Given the description of an element on the screen output the (x, y) to click on. 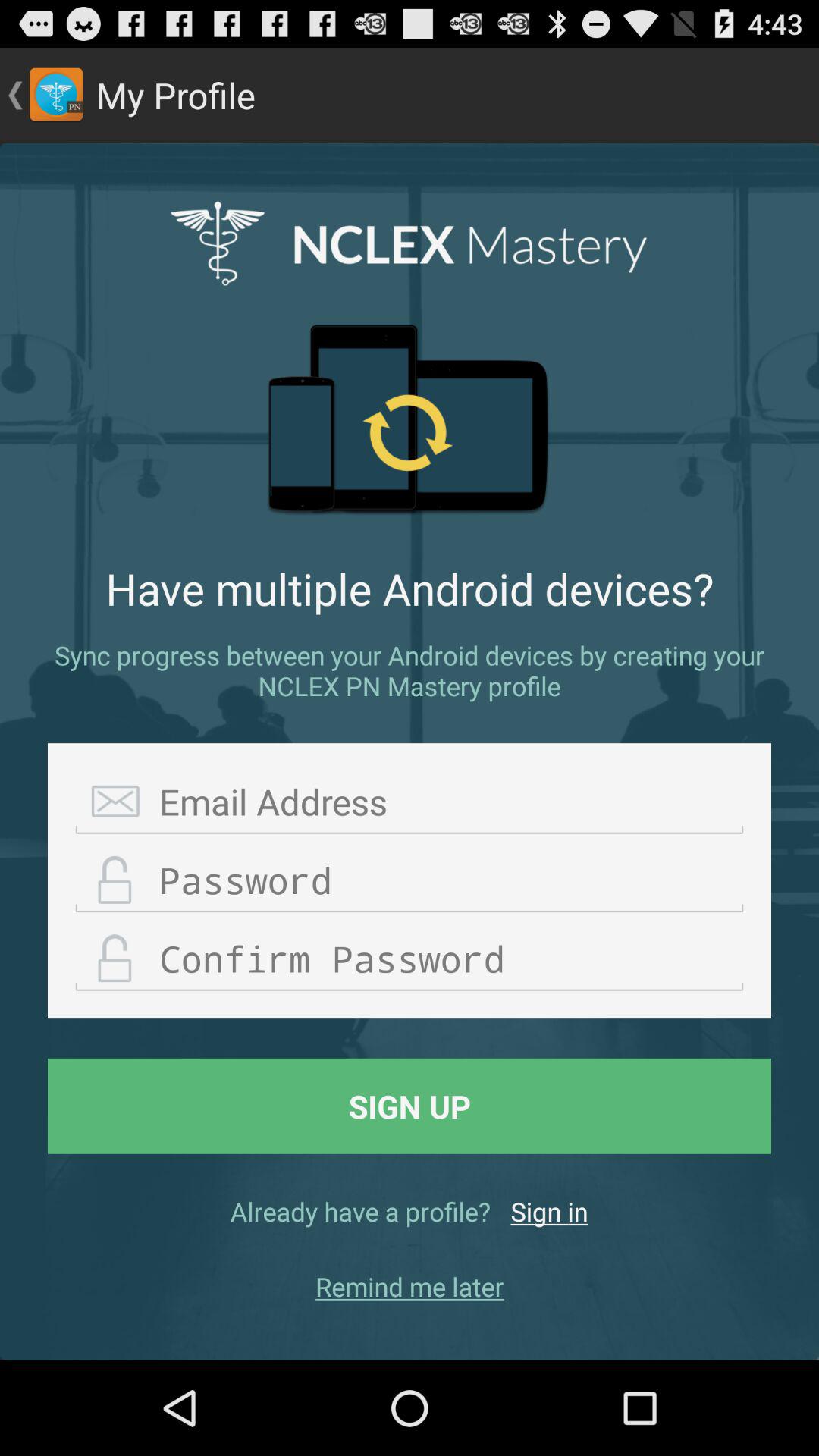
turn on the app at the bottom right corner (549, 1211)
